Given the description of an element on the screen output the (x, y) to click on. 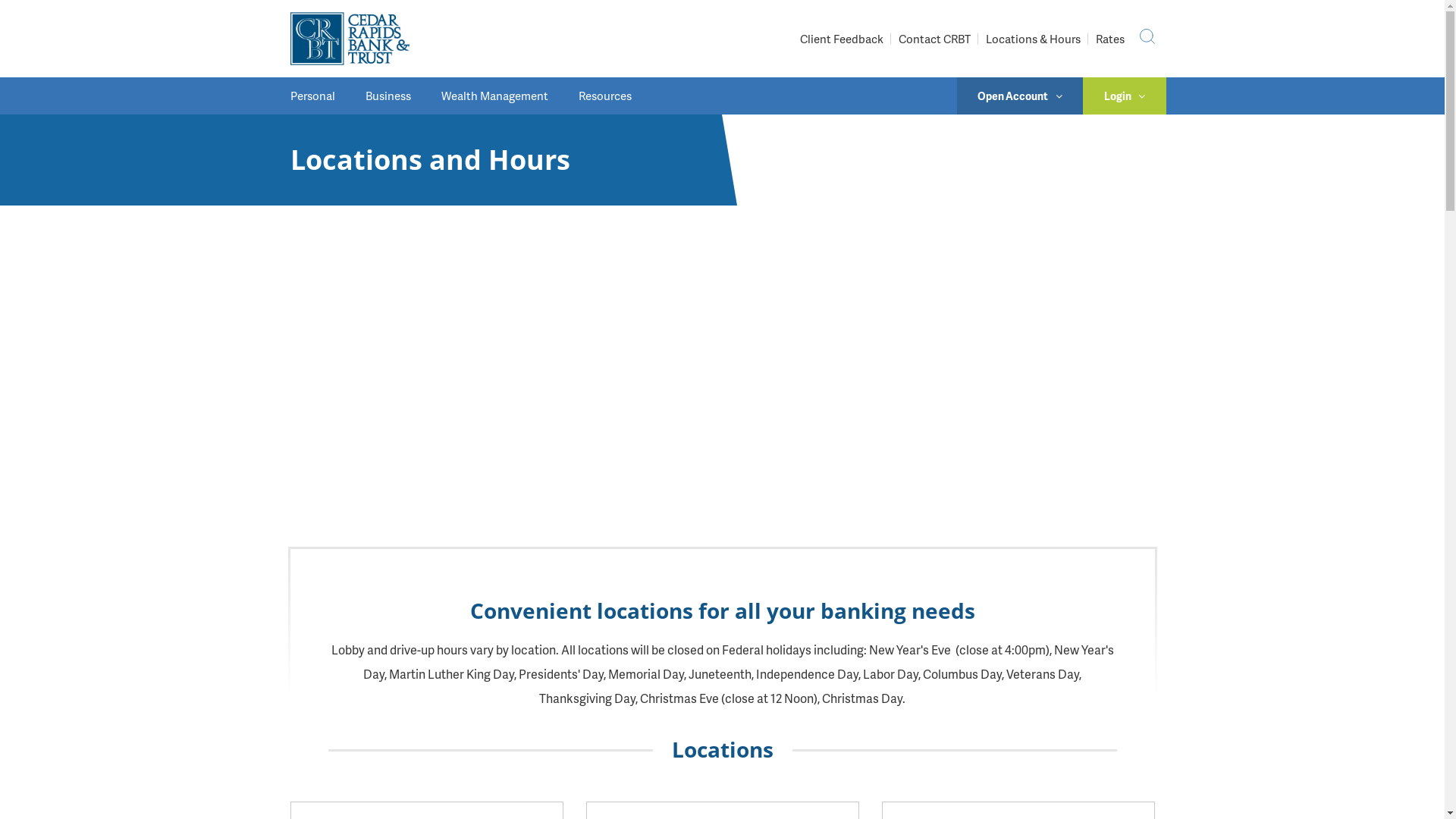
Business Element type: text (388, 95)
Open Account Element type: text (1020, 95)
CRBT Element type: hover (348, 38)
Login Element type: text (1124, 95)
Rates Element type: text (1109, 38)
Client Feedback Element type: text (840, 38)
Locations & Hours Element type: text (1032, 38)
Contact CRBT Element type: text (933, 38)
Wealth Management Element type: text (494, 95)
Resources Element type: text (604, 95)
Personal Element type: text (319, 95)
